Given the description of an element on the screen output the (x, y) to click on. 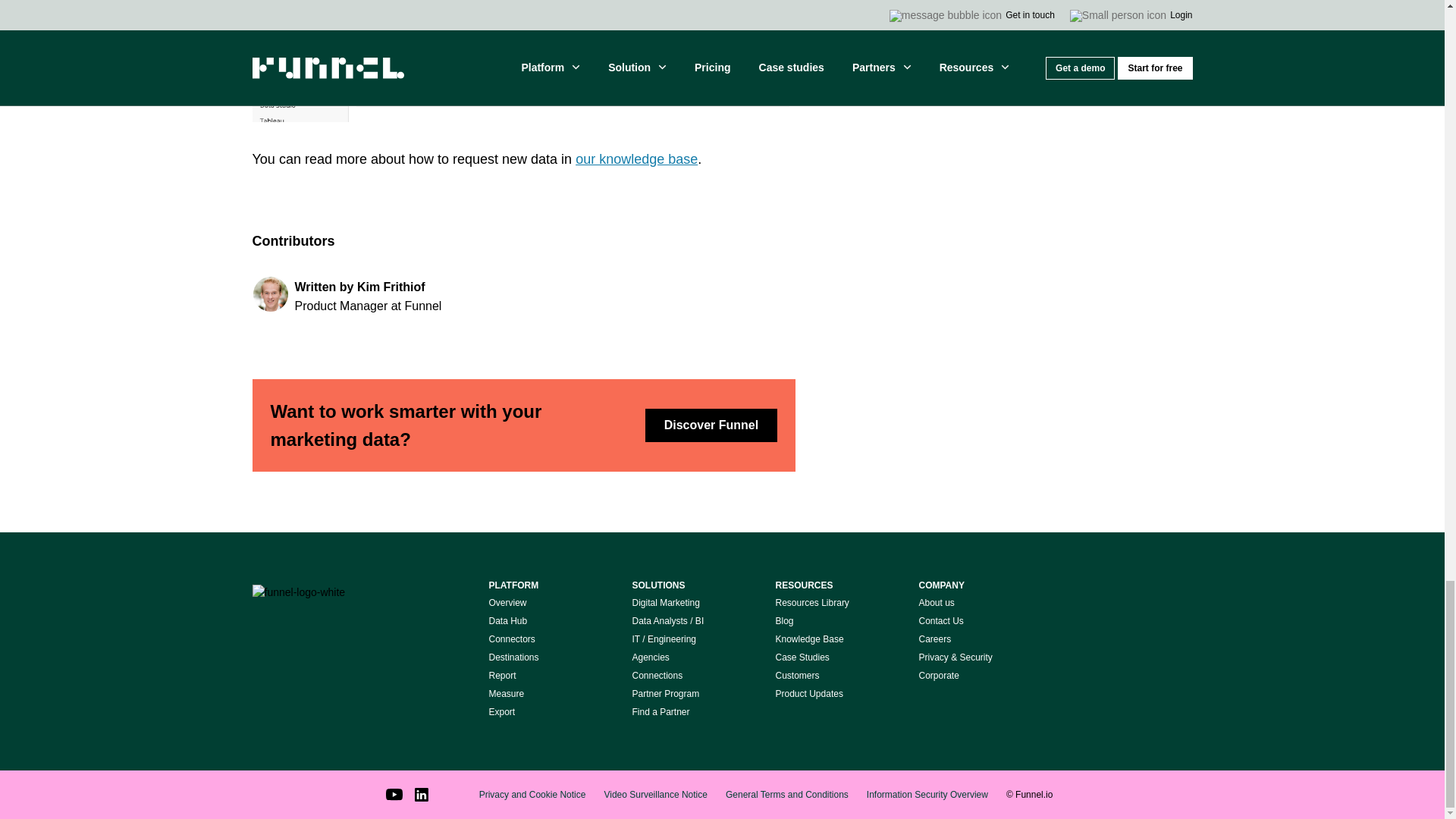
funnel-logo-white (298, 592)
